Given the description of an element on the screen output the (x, y) to click on. 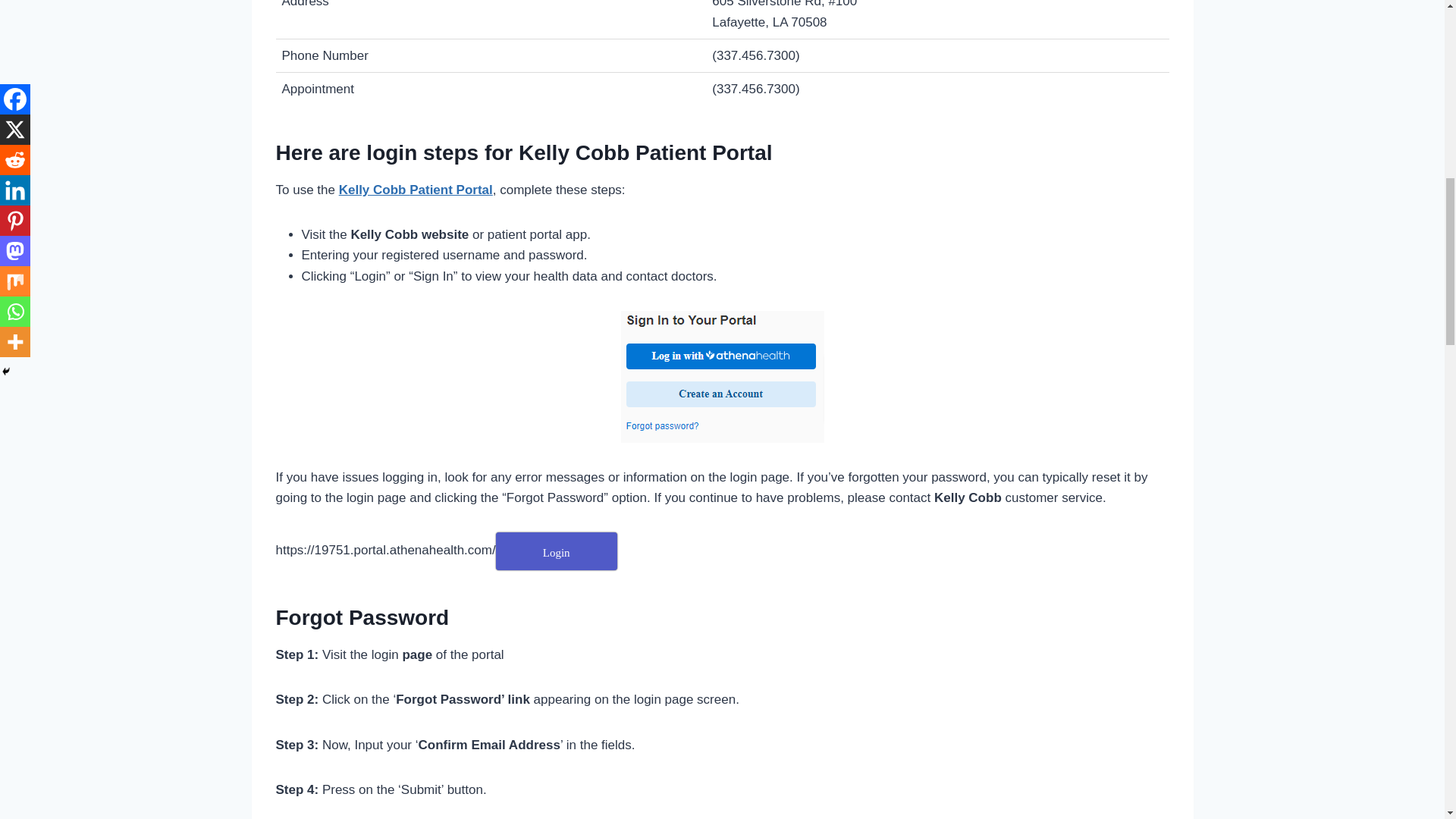
Kelly Cobb Patient Portal (416, 189)
Login (556, 551)
Login (556, 551)
